Given the description of an element on the screen output the (x, y) to click on. 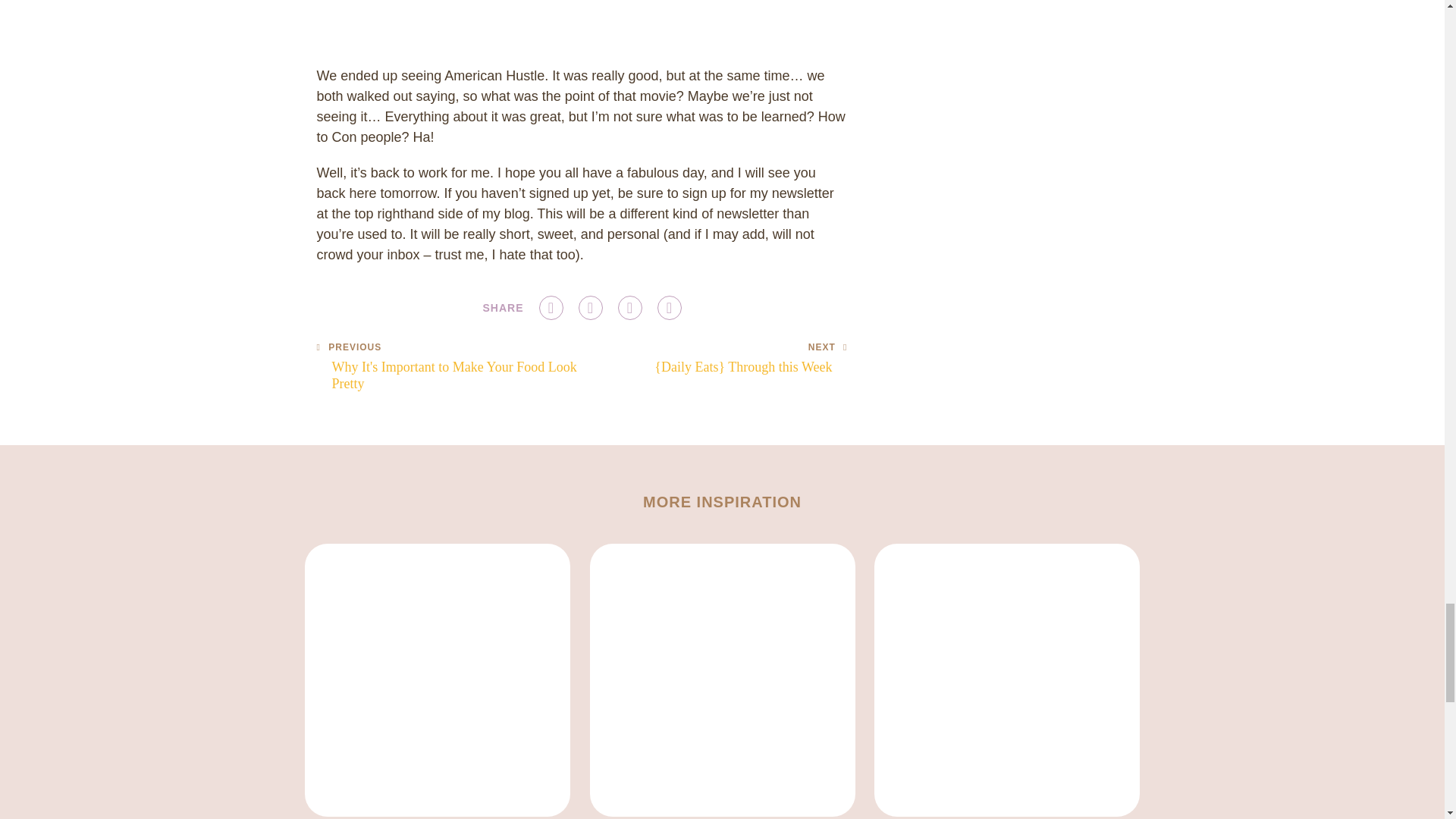
Share on Pinterest (629, 307)
Share on Facebook (550, 307)
Share on Twitter (449, 367)
Share via E-mail (590, 307)
